Given the description of an element on the screen output the (x, y) to click on. 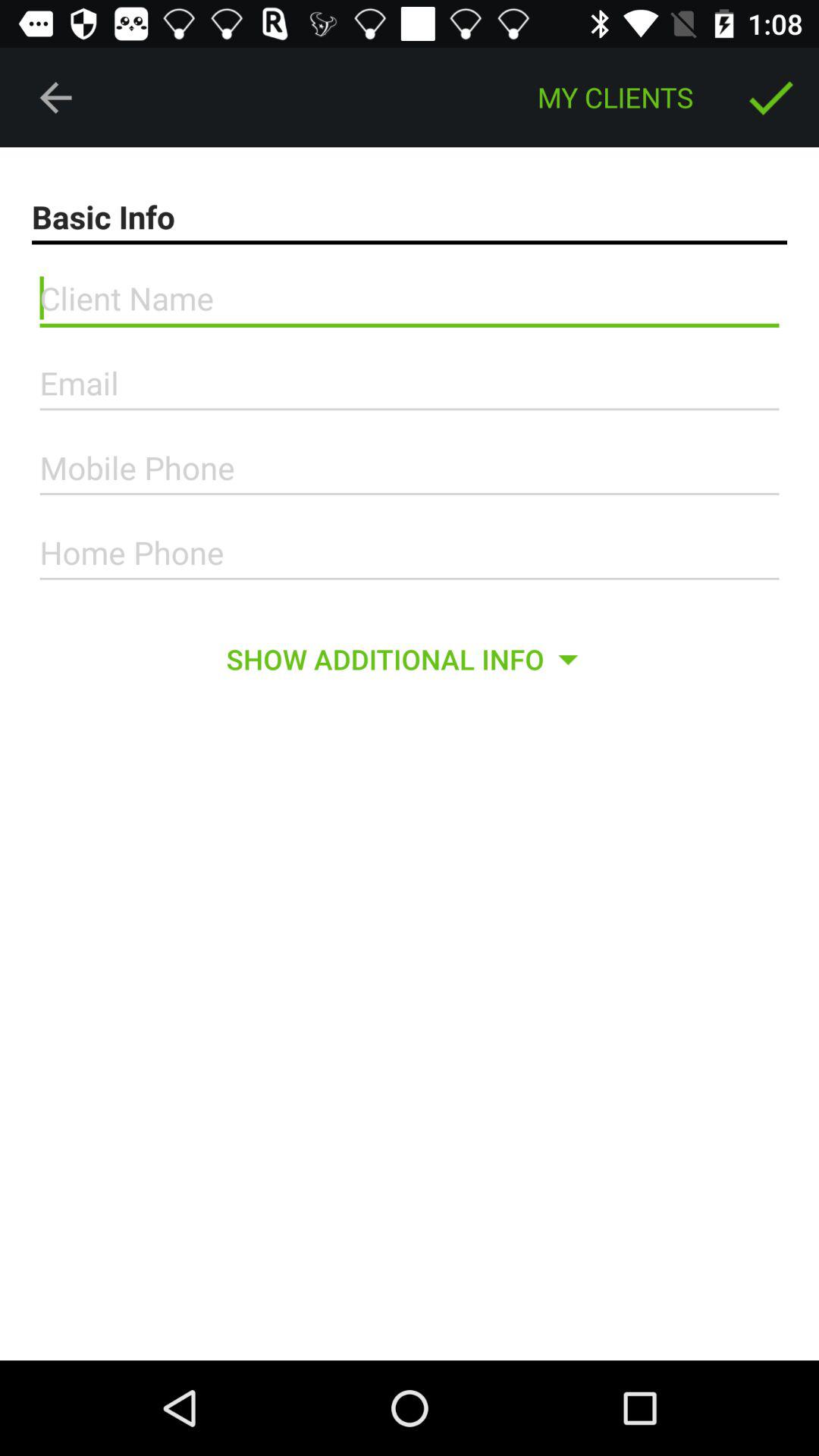
add contact number (409, 552)
